Given the description of an element on the screen output the (x, y) to click on. 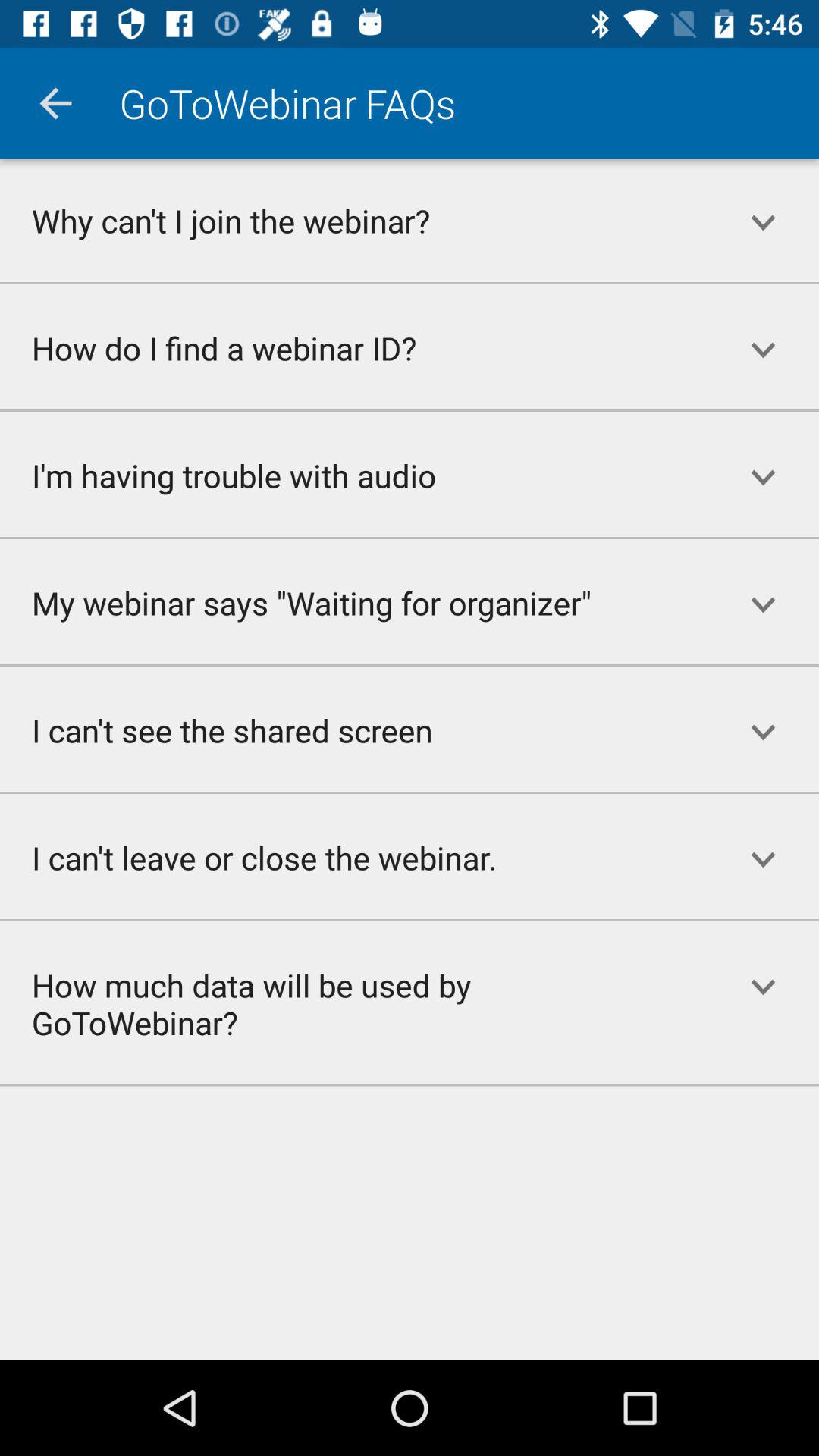
open the app to the left of the gotowebinar item (55, 103)
